Given the description of an element on the screen output the (x, y) to click on. 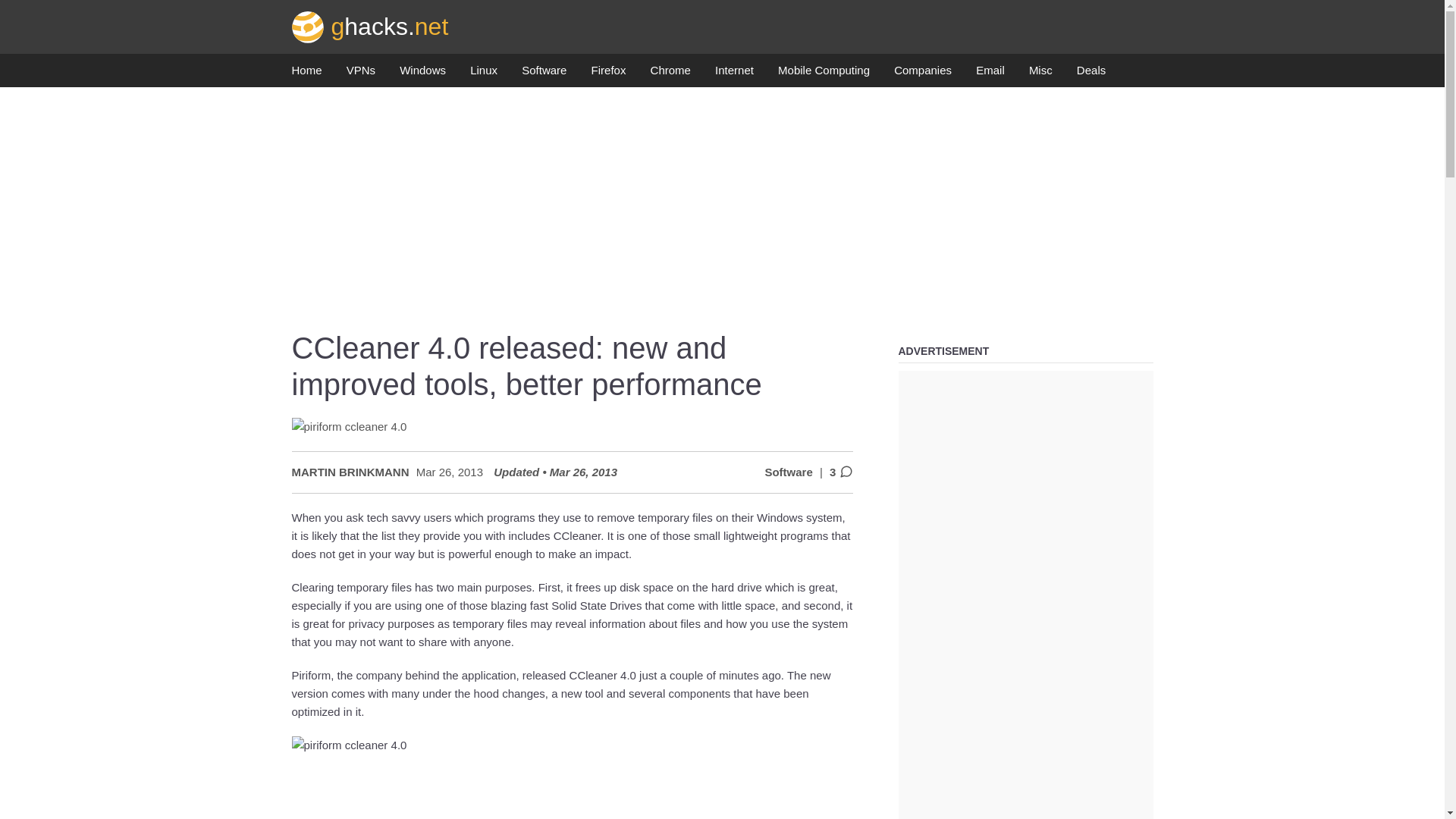
Firefox (608, 73)
Windows (421, 73)
Deals (1091, 73)
Home (306, 73)
Companies (922, 73)
Internet (734, 73)
Mobile Computing (823, 73)
Software (543, 73)
ghacks.net (369, 26)
Email (989, 73)
